Given the description of an element on the screen output the (x, y) to click on. 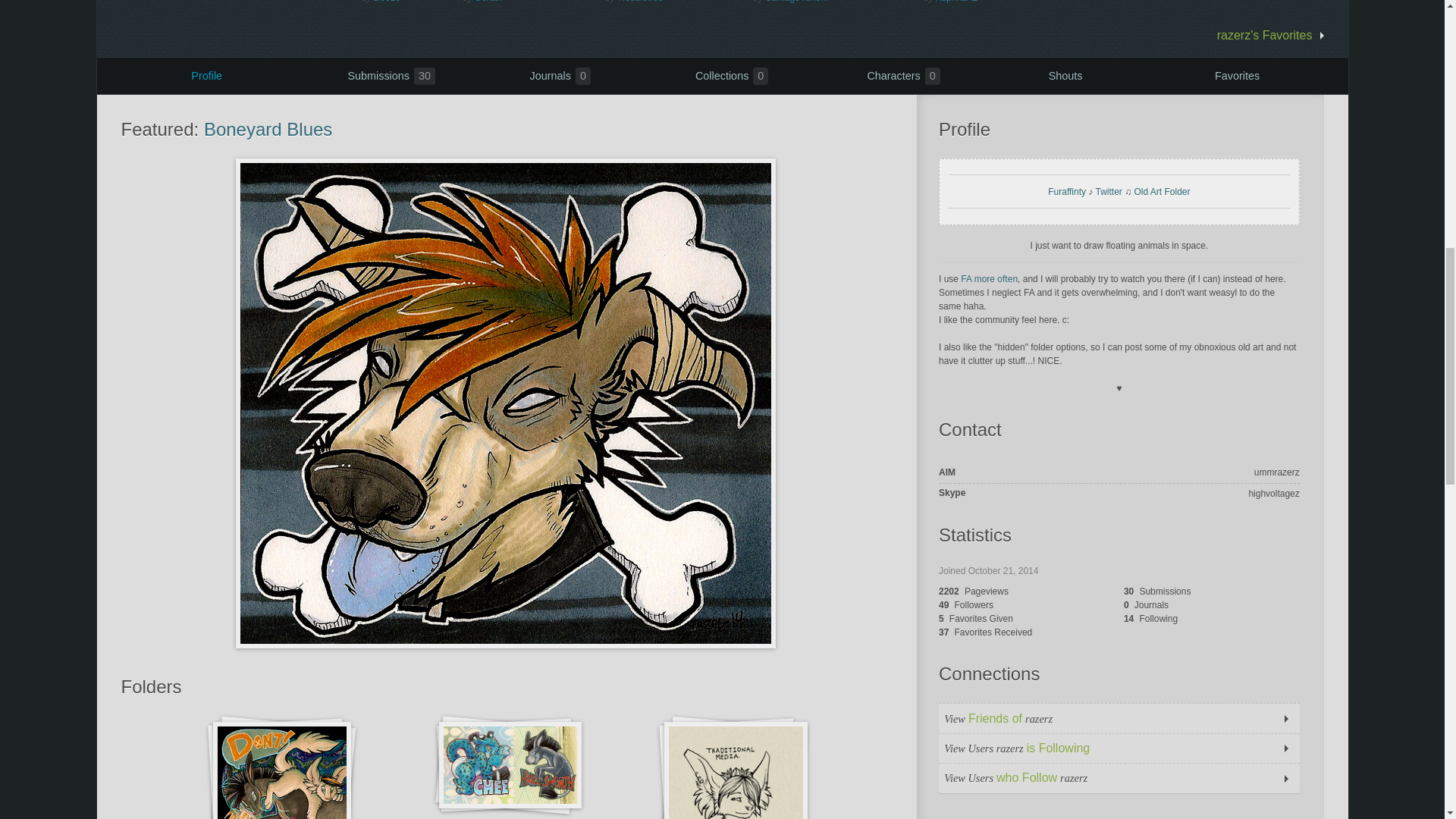
by D6016 (409, 2)
by Gorath (531, 2)
by Troublefree  (676, 2)
